Given the description of an element on the screen output the (x, y) to click on. 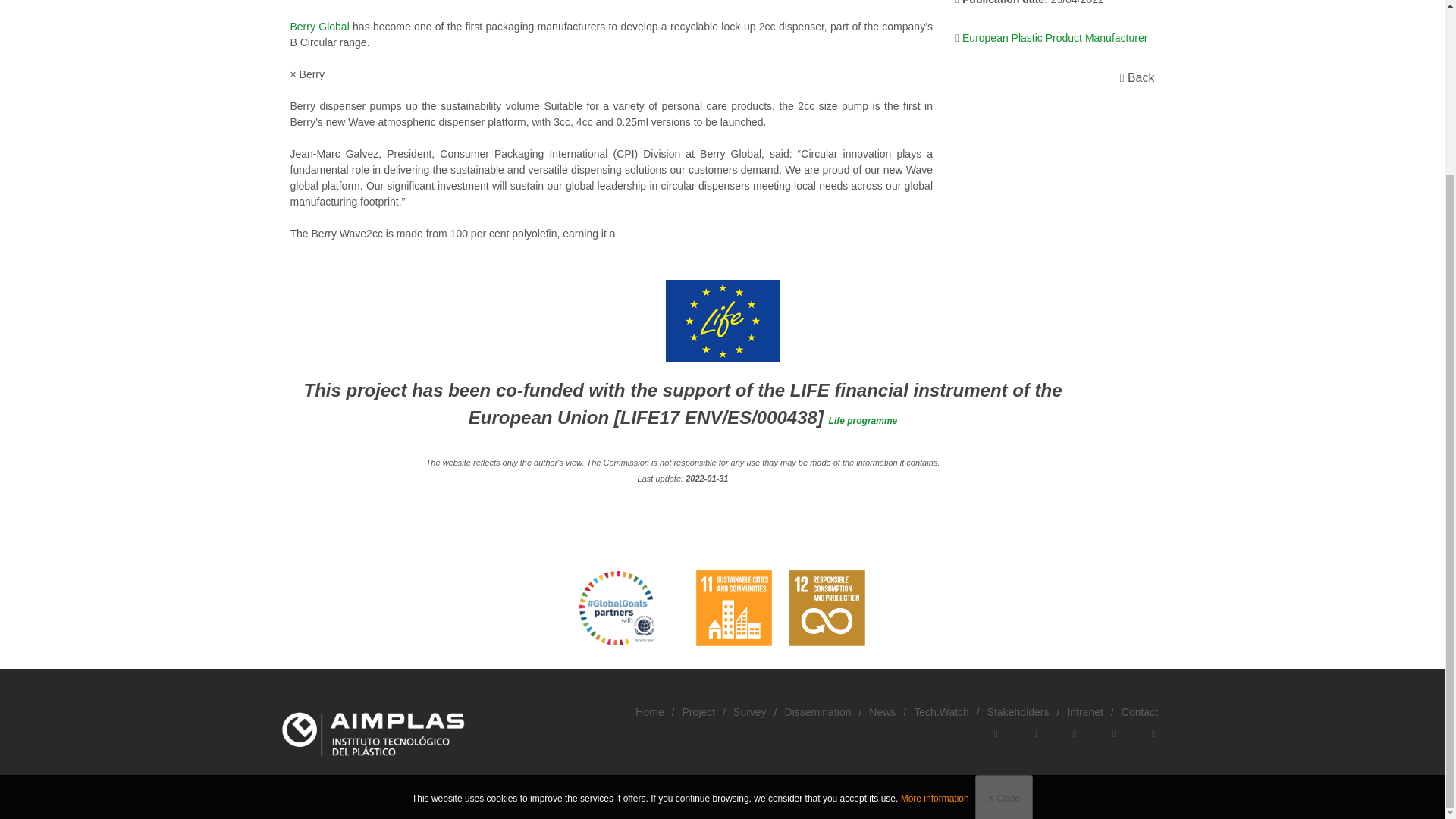
European Plastic Product Manufacturer (1058, 37)
Home (648, 711)
Survey (750, 711)
Intranet (1084, 711)
Dissemination (817, 711)
Tech.Watch (941, 711)
Project (699, 711)
X Close (1003, 585)
Back (1139, 77)
Contact (1139, 711)
News (882, 711)
Life programme (863, 420)
Stakeholders (1018, 711)
Berry Global (288, 26)
